Given the description of an element on the screen output the (x, y) to click on. 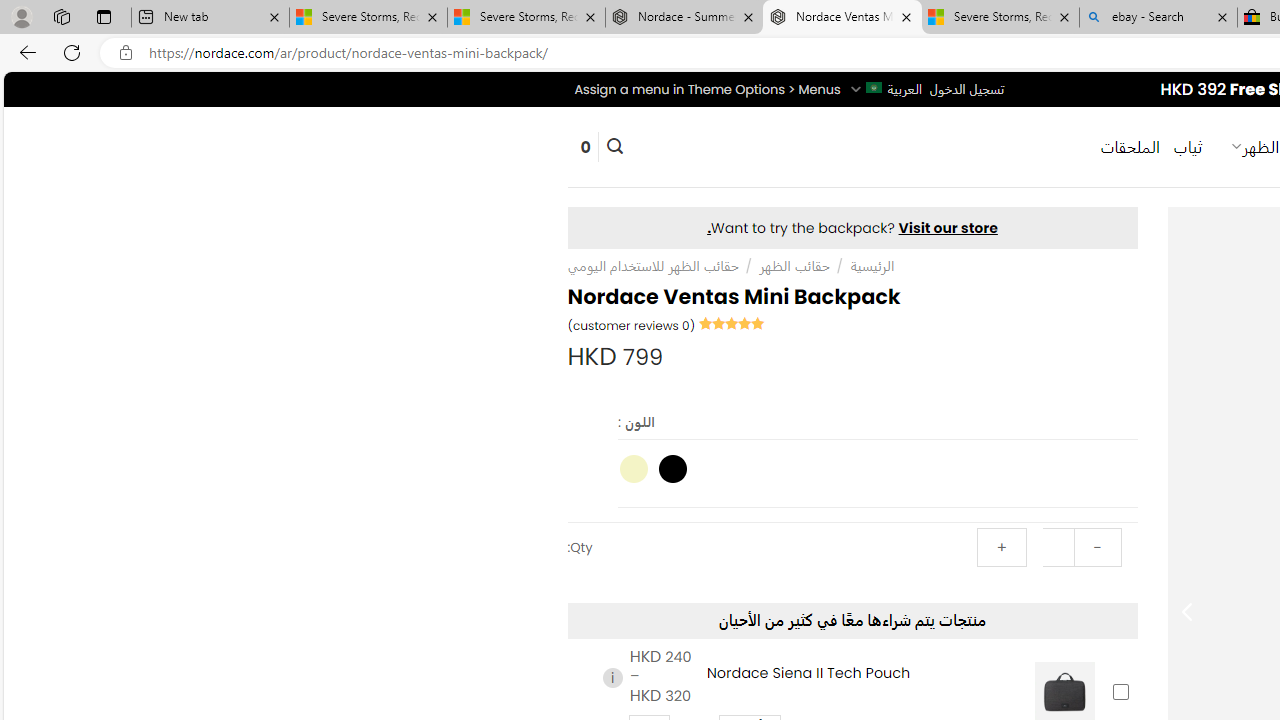
+ (1001, 547)
- (1097, 547)
